Given the description of an element on the screen output the (x, y) to click on. 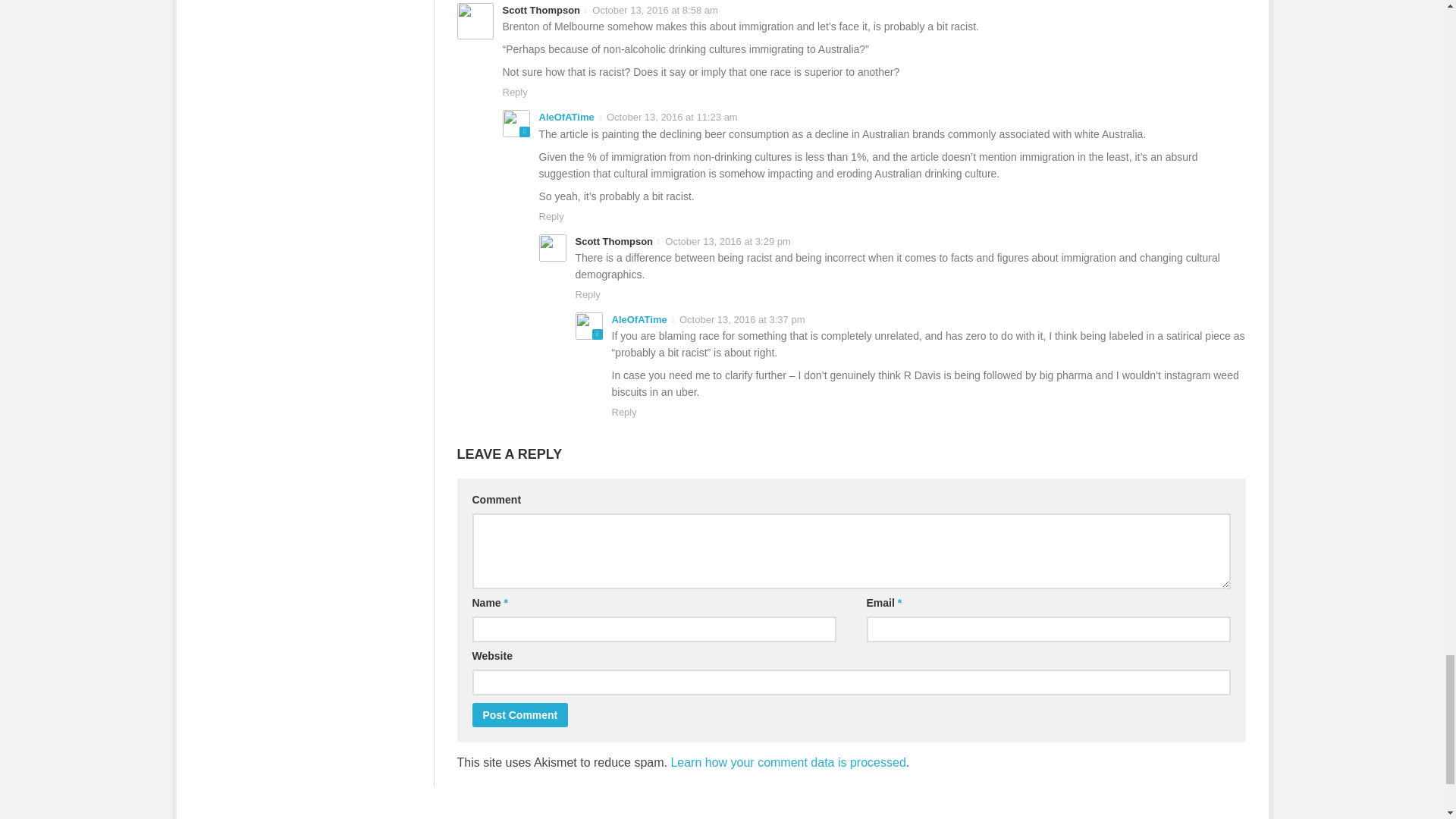
Post Comment (519, 714)
